Given the description of an element on the screen output the (x, y) to click on. 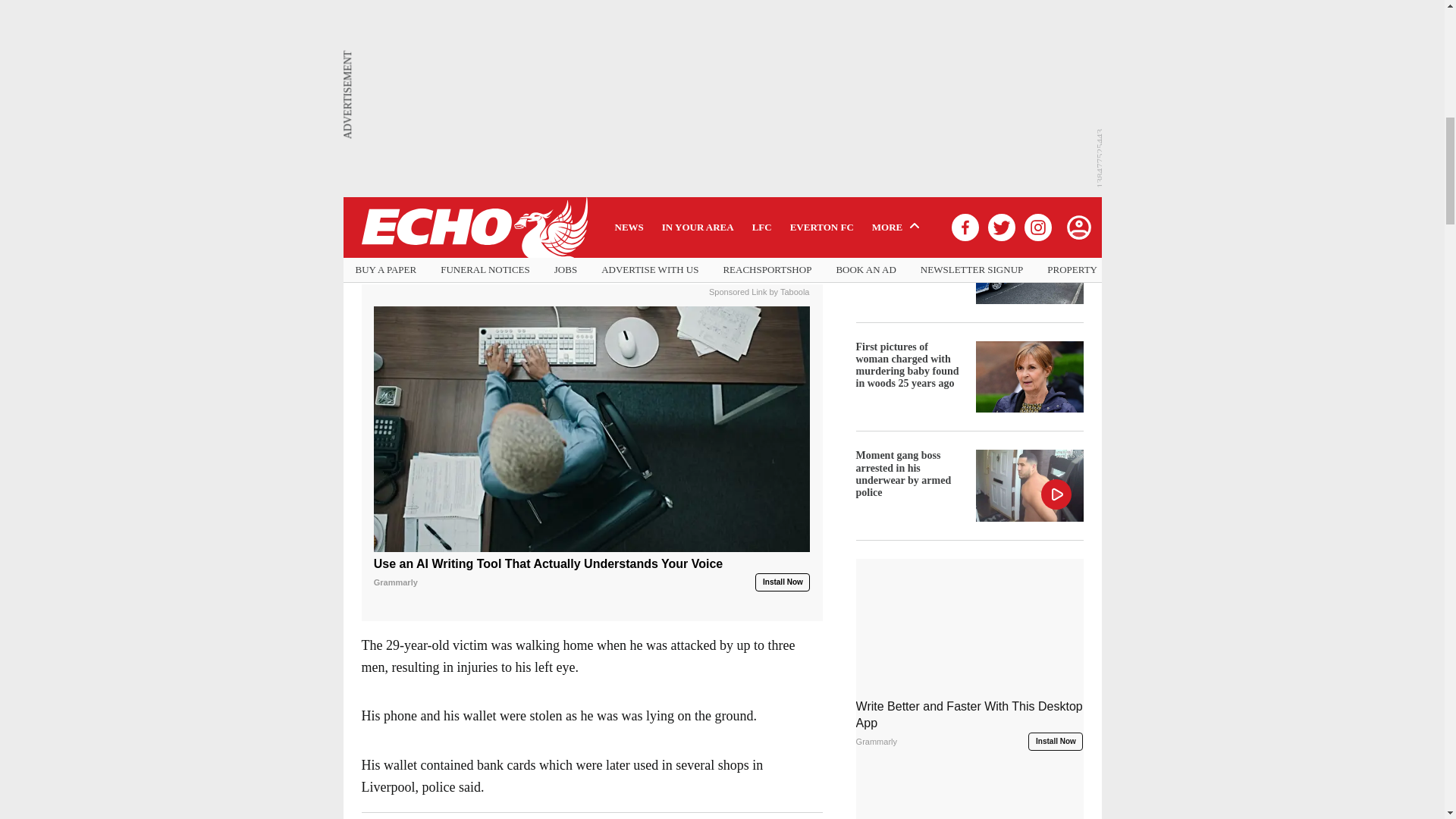
the city centre (633, 209)
Use an AI Writing Tool That Actually Understands Your Voice (592, 429)
Sponsored Link (738, 290)
Use an AI Writing Tool That Actually Understands Your Voice (592, 573)
by Taboola (788, 290)
after a man was robbed in the city centre (585, 149)
